Given the description of an element on the screen output the (x, y) to click on. 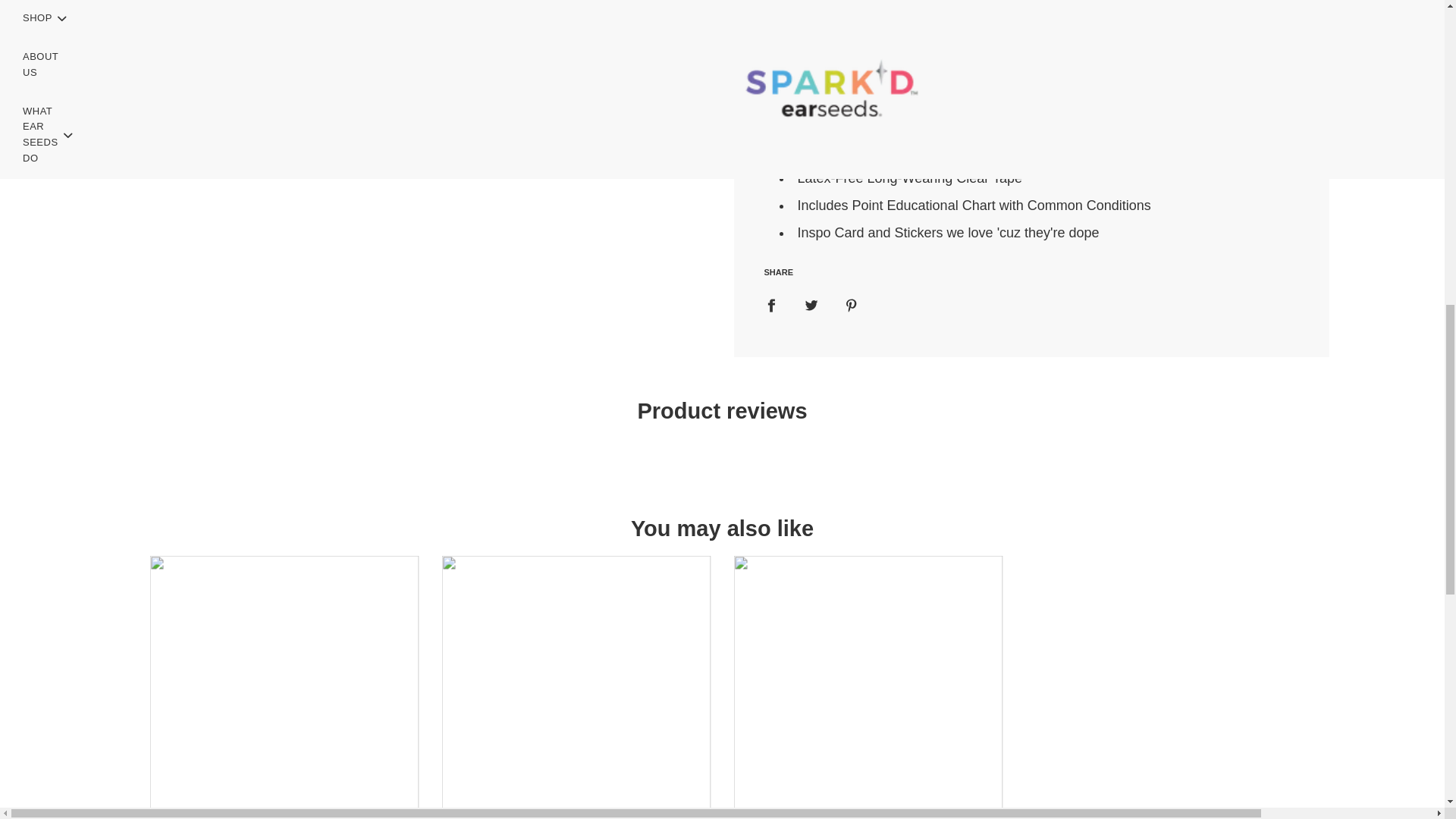
24k Gold Ear Seeds (284, 687)
Crystal Clear Ear Seeds (575, 687)
Rainbow Crystal Ear Seeds (868, 687)
